Given the description of an element on the screen output the (x, y) to click on. 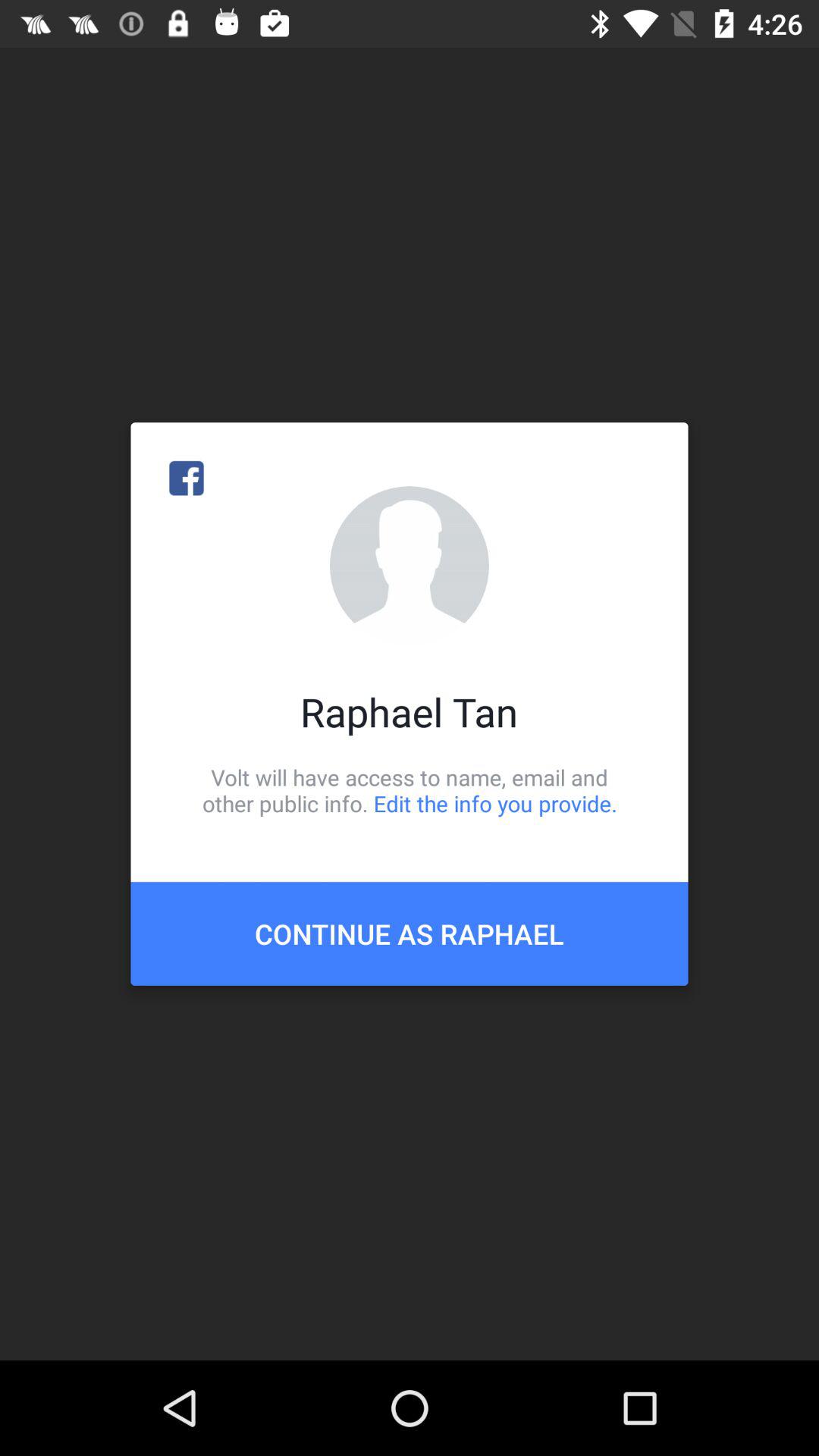
swipe to the volt will have icon (409, 790)
